Given the description of an element on the screen output the (x, y) to click on. 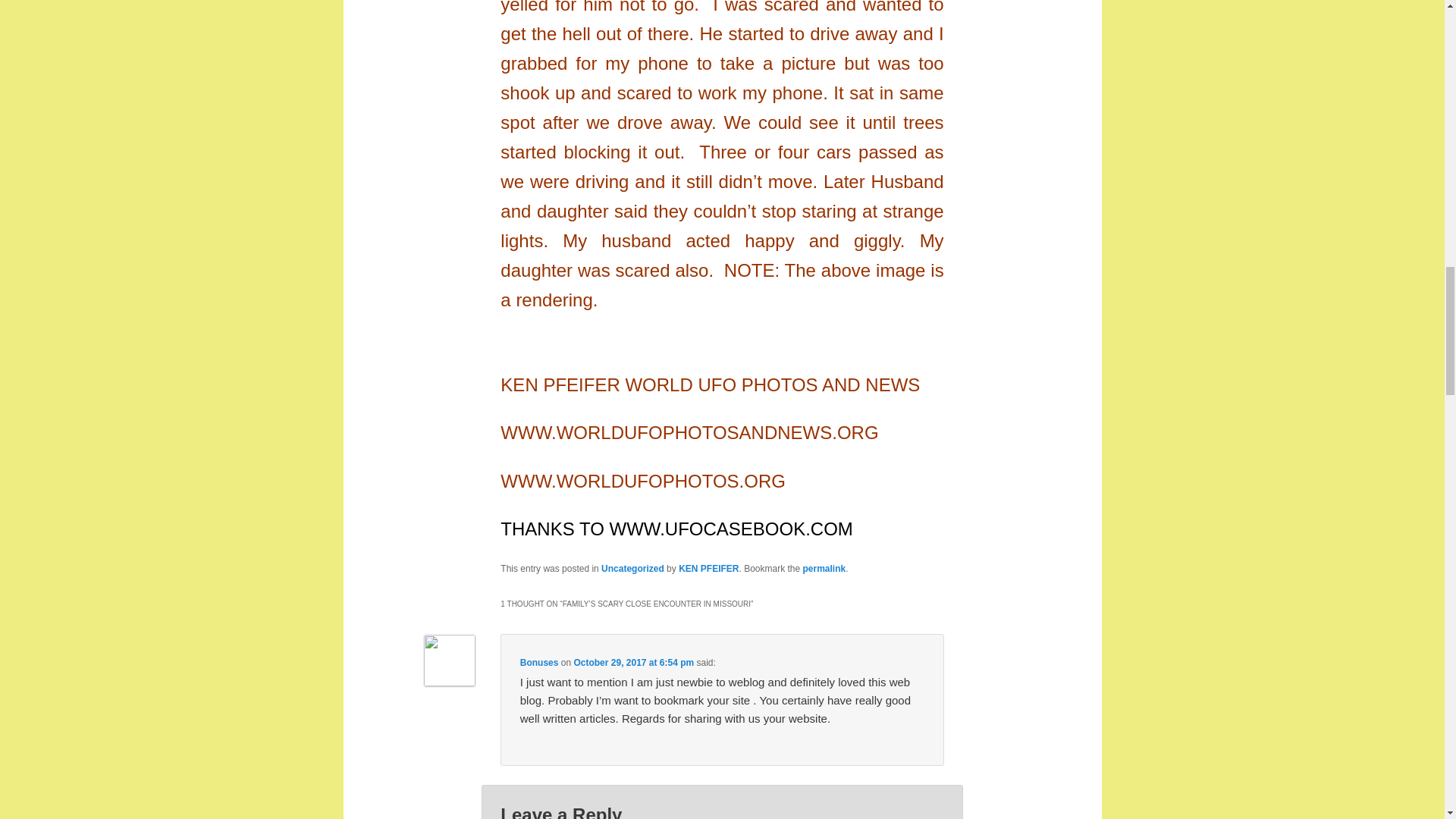
Bonuses (539, 662)
KEN PFEIFER (708, 568)
permalink (824, 568)
WWW.UFOCASEBOOK.COM (731, 530)
Uncategorized (632, 568)
October 29, 2017 at 6:54 pm (633, 662)
WWW.WORLDUFOPHOTOS.ORG (643, 482)
WWW.WORLDUFOPHOTOSANDNEWS.ORG (688, 434)
